Given the description of an element on the screen output the (x, y) to click on. 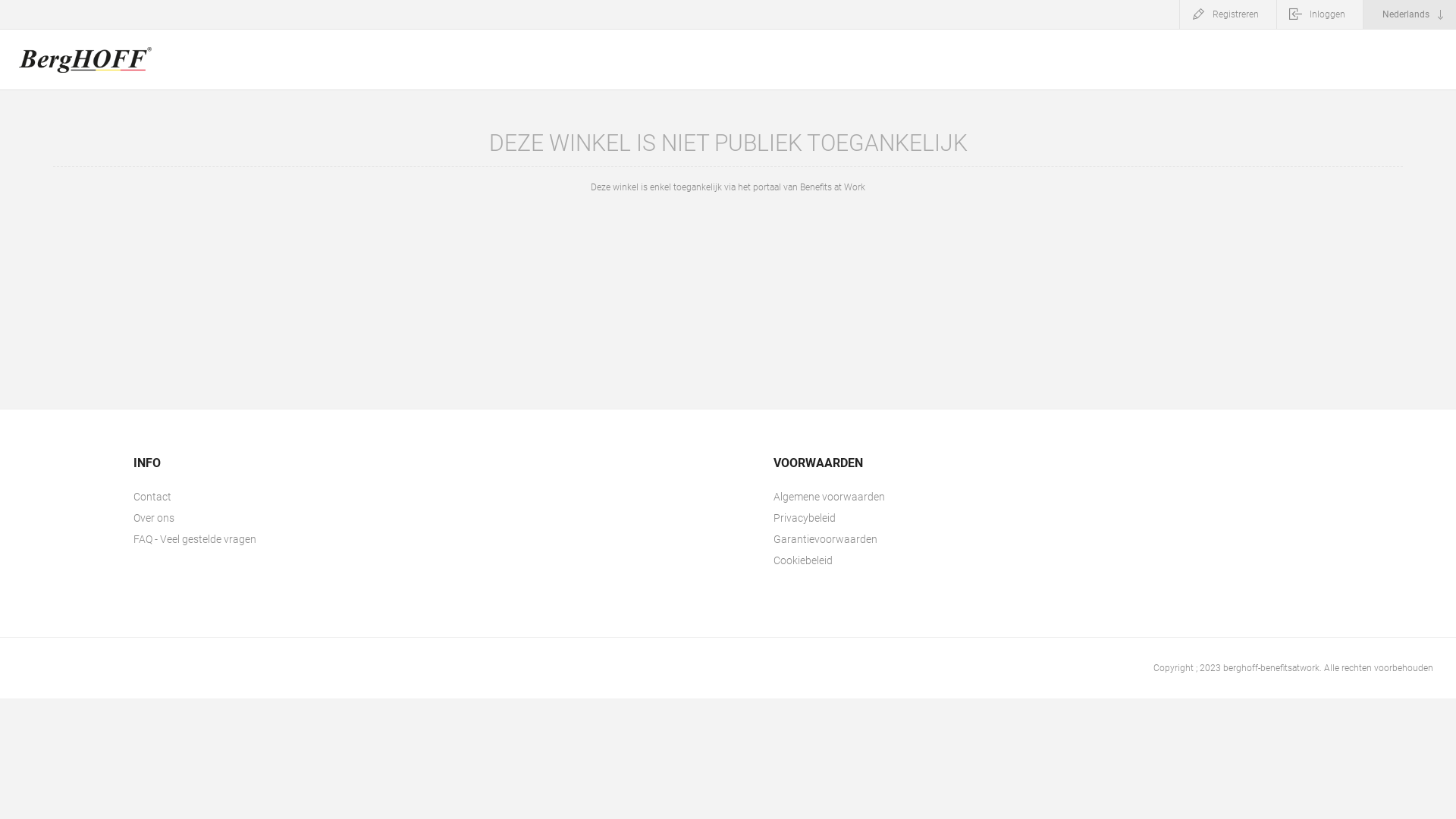
Registreren Element type: text (1227, 14)
Over ons Element type: text (270, 517)
FAQ - Veel gestelde vragen Element type: text (270, 538)
Algemene voorwaarden Element type: text (910, 496)
Inloggen Element type: text (1319, 14)
Garantievoorwaarden Element type: text (910, 538)
Privacybeleid Element type: text (910, 517)
Cookiebeleid Element type: text (910, 560)
Contact Element type: text (270, 496)
